Given the description of an element on the screen output the (x, y) to click on. 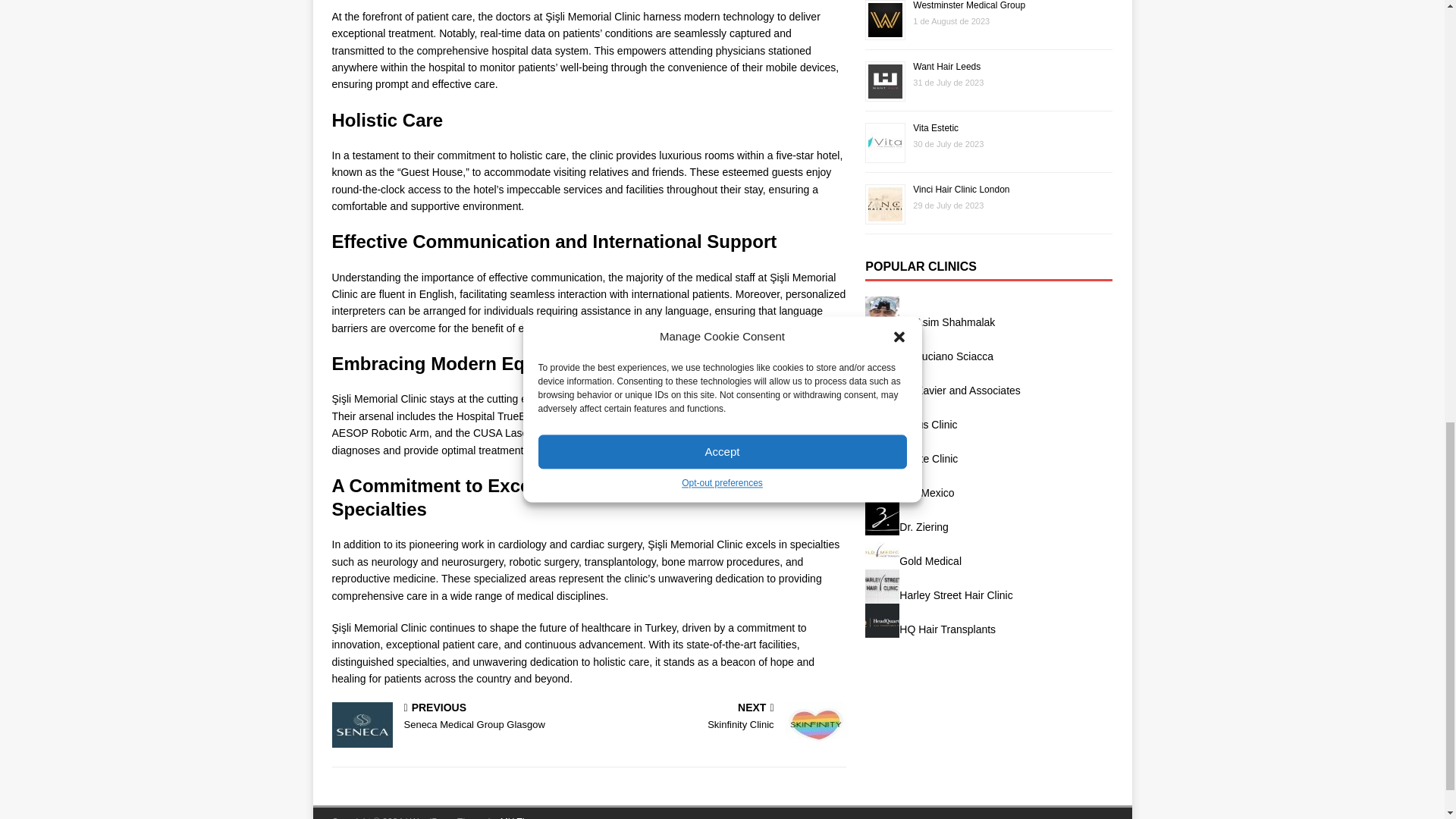
Dr. Asim Shahmalak (720, 717)
Dr. Luciano Sciacca (881, 313)
